Given the description of an element on the screen output the (x, y) to click on. 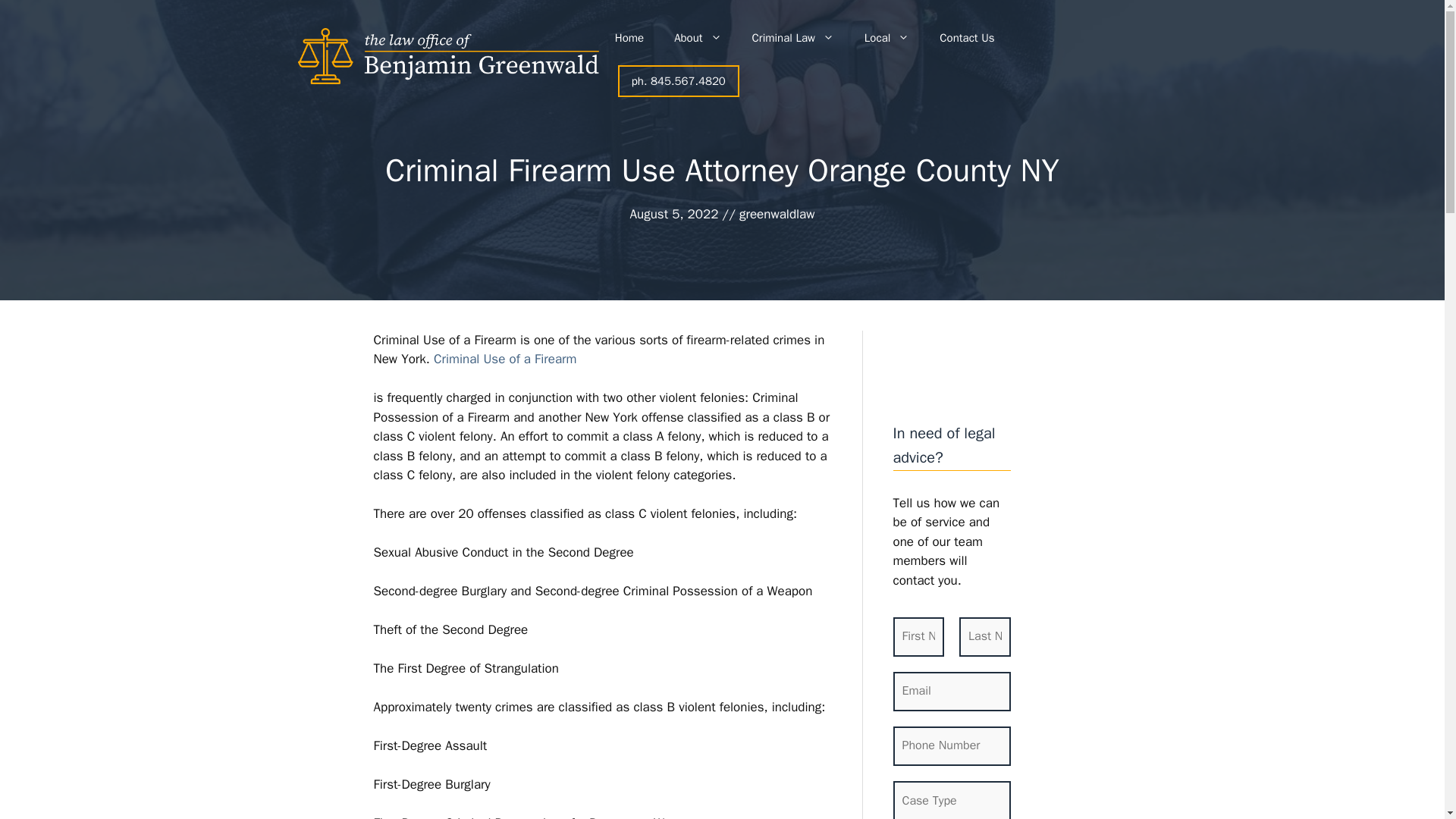
About (697, 37)
ph. 845.567.4820 (678, 81)
Contact Us (966, 37)
Criminal Law (792, 37)
Local (886, 37)
Home (629, 37)
